Given the description of an element on the screen output the (x, y) to click on. 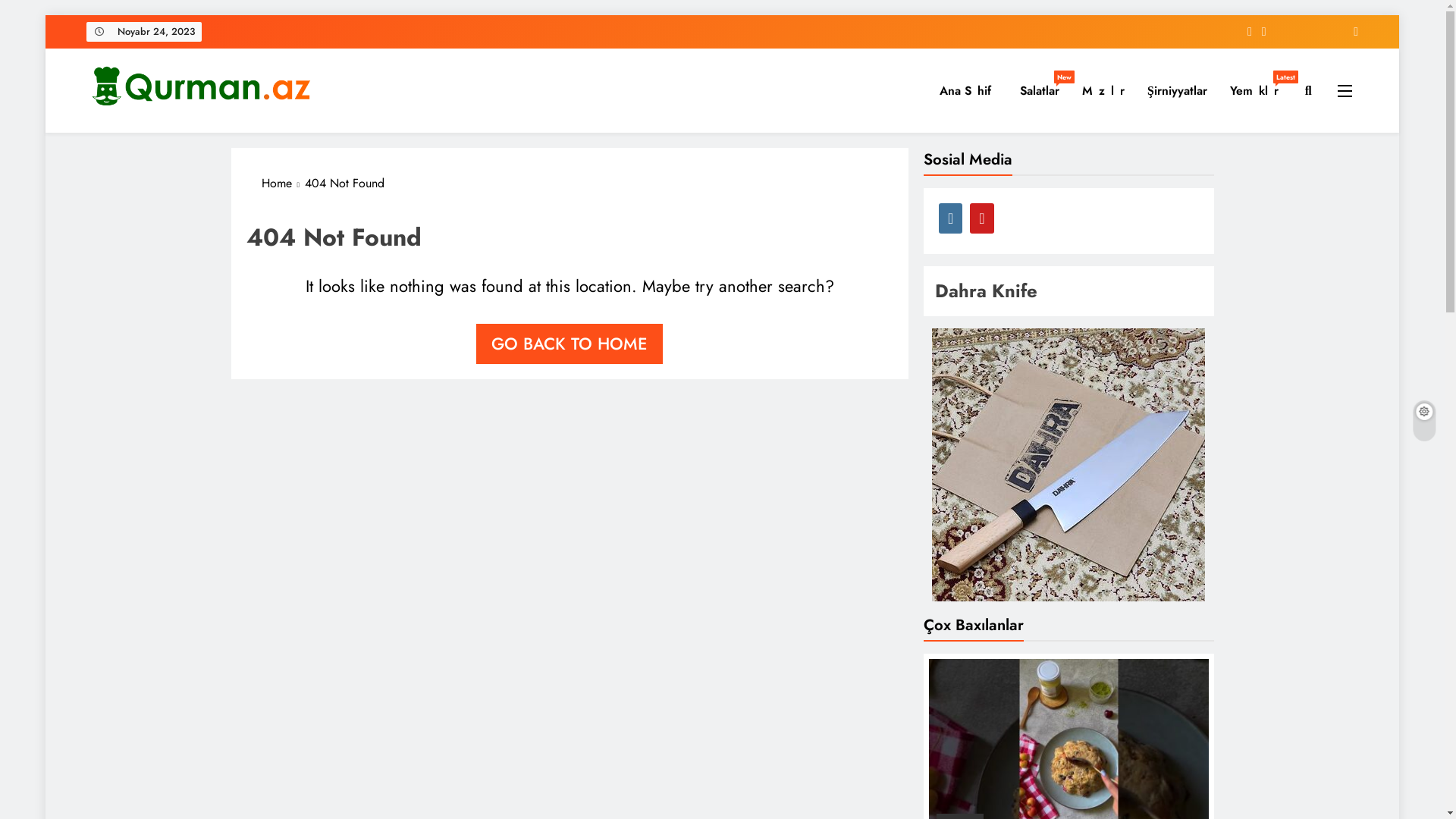
Skip to content Element type: text (44, 14)
Qurman.az Element type: text (147, 134)
Home Element type: text (282, 183)
Salatlar
New Element type: text (1039, 90)
GO BACK TO HOME Element type: text (569, 343)
Random News Element type: hover (1350, 31)
